Given the description of an element on the screen output the (x, y) to click on. 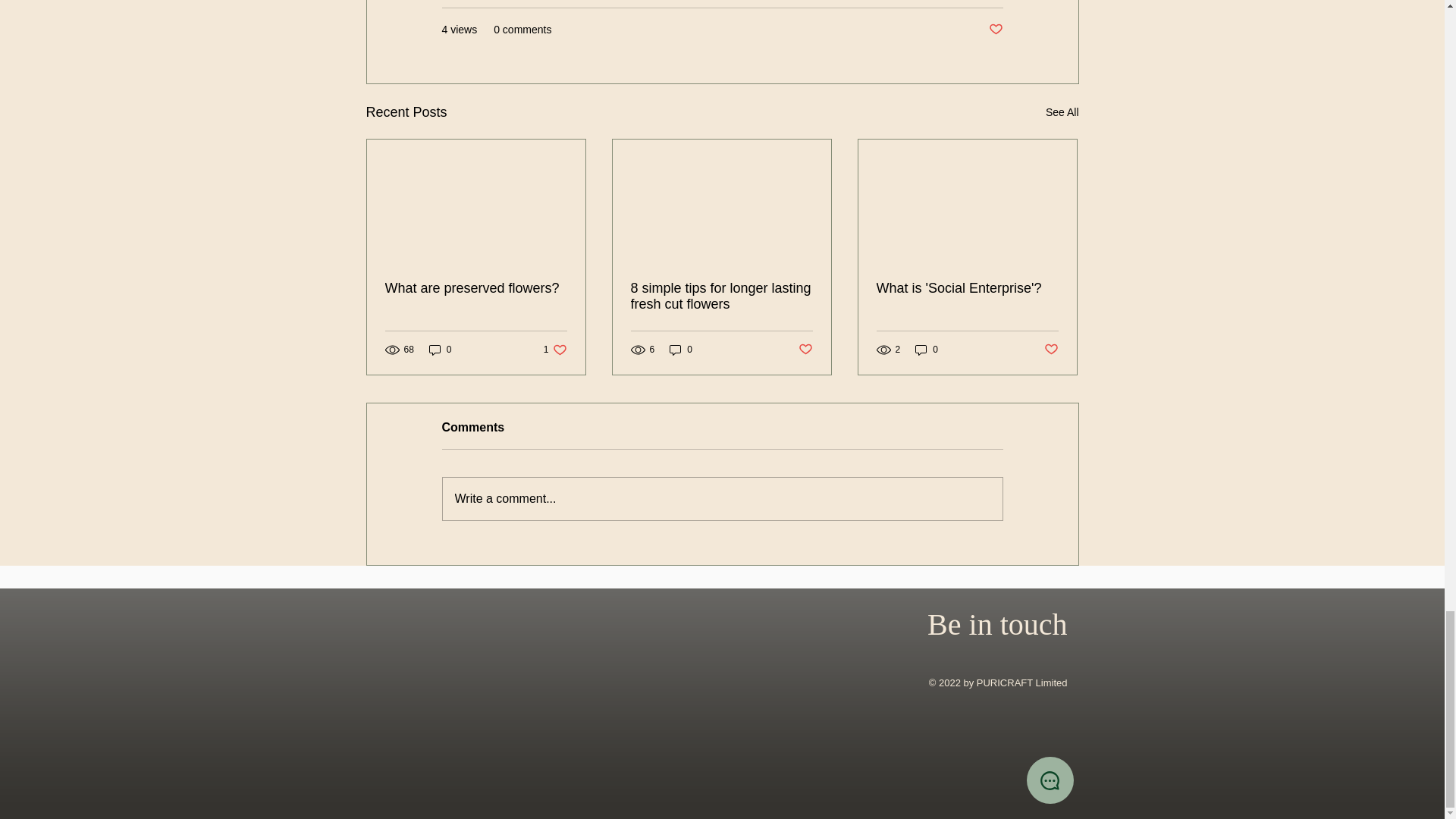
What is 'Social Enterprise'? (967, 288)
Post not marked as liked (804, 349)
Write a comment... (722, 498)
Post not marked as liked (1050, 349)
What are preserved flowers? (476, 288)
Post not marked as liked (995, 29)
8 simple tips for longer lasting fresh cut flowers (721, 296)
See All (1061, 112)
0 (681, 350)
0 (440, 350)
0 (926, 350)
